Given the description of an element on the screen output the (x, y) to click on. 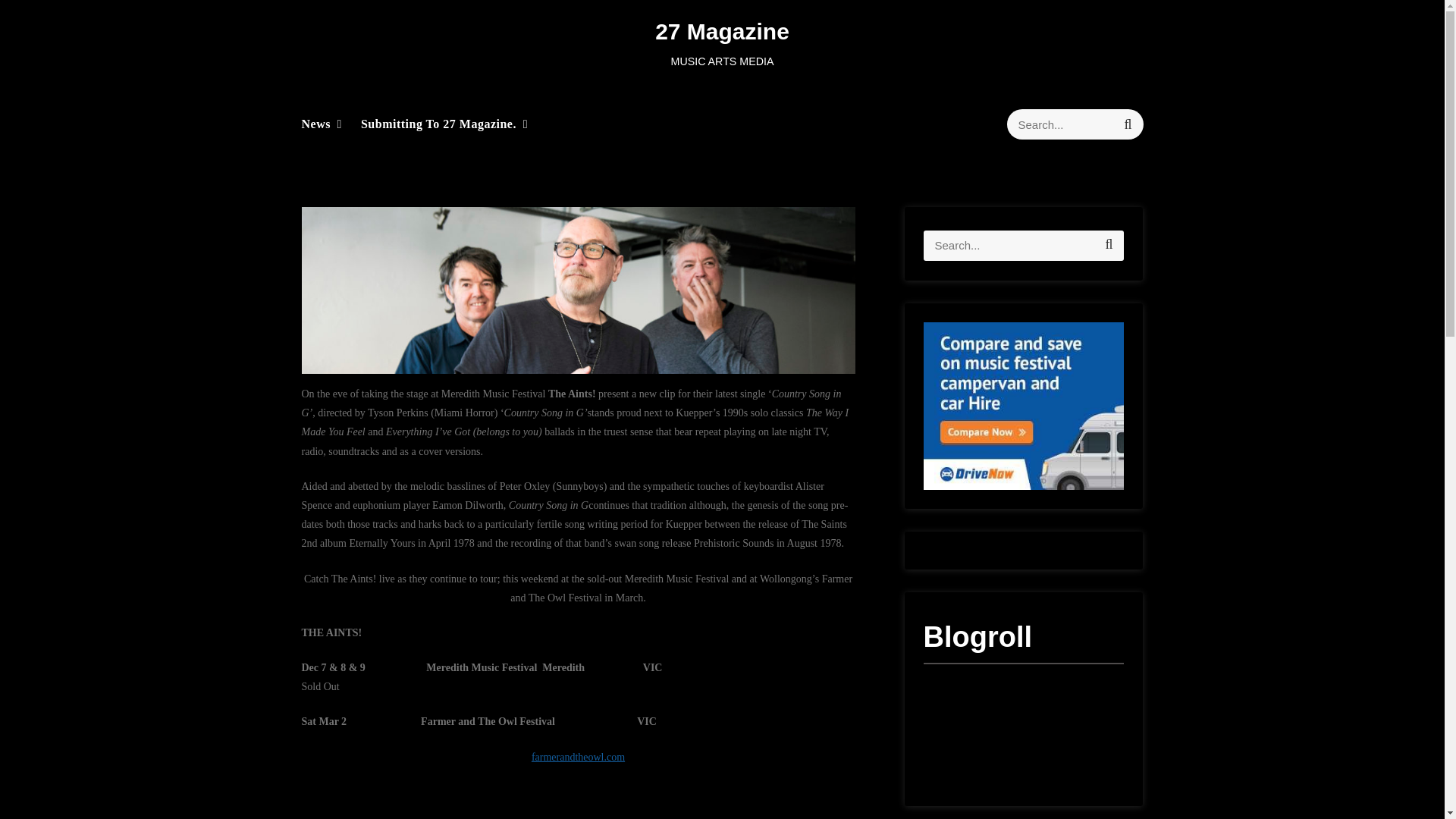
Search (1127, 123)
farmerandtheowl.com (577, 756)
News (315, 123)
Submitting To 27 Magazine. (438, 123)
27 Magazine (722, 31)
